Given the description of an element on the screen output the (x, y) to click on. 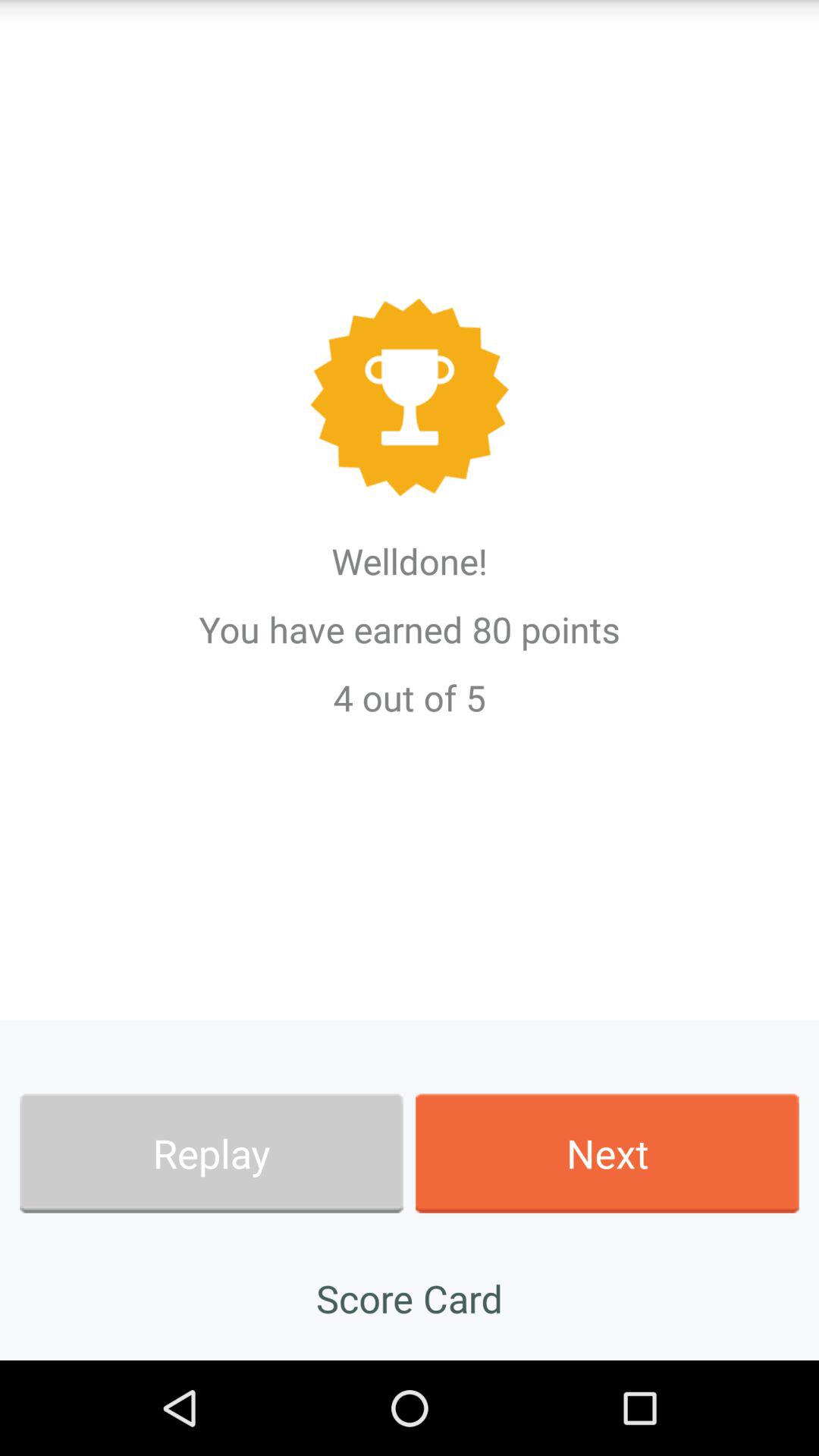
select the app at the bottom left corner (211, 1153)
